Given the description of an element on the screen output the (x, y) to click on. 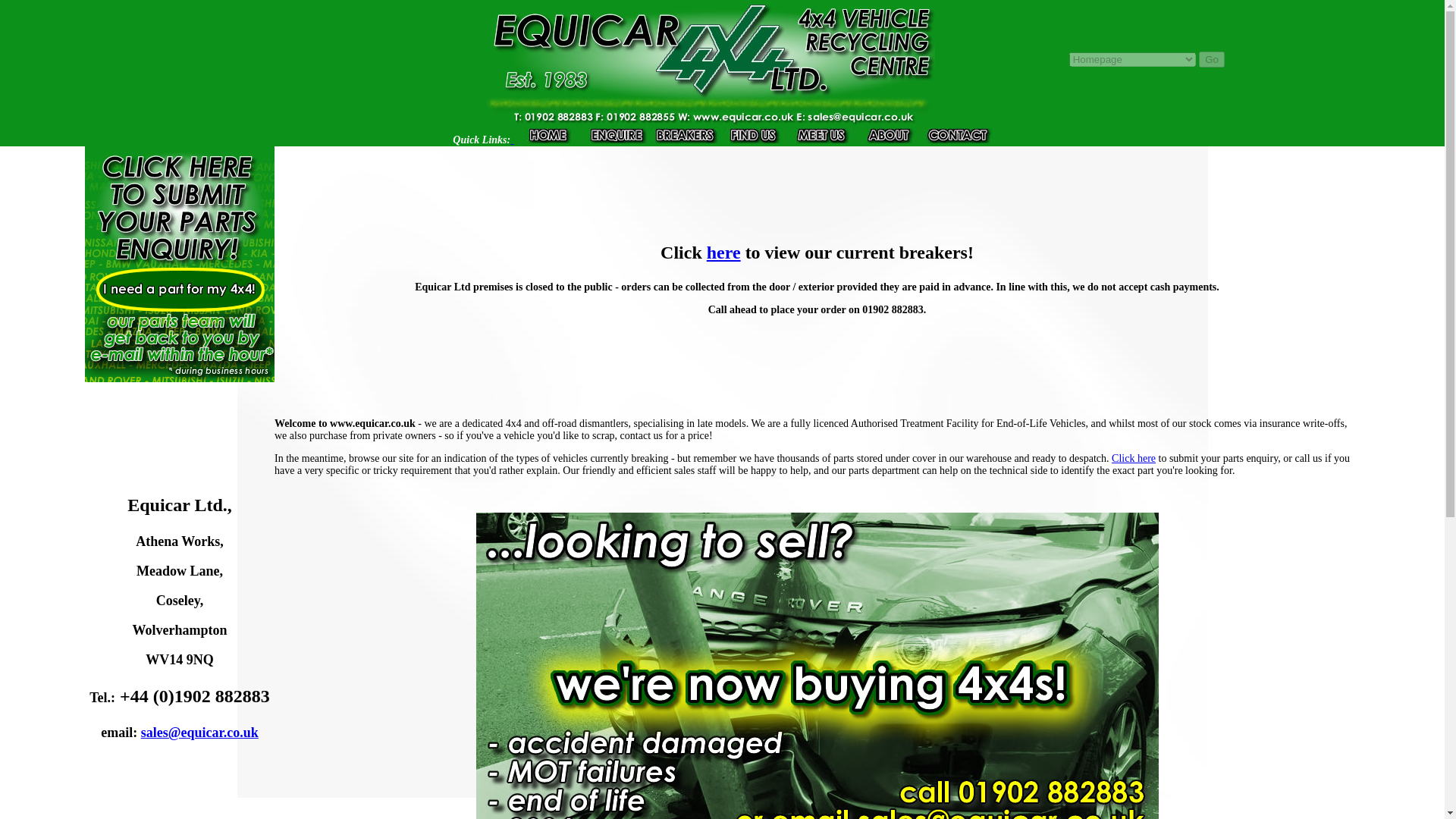
Go (1211, 59)
here (723, 252)
Click here (1134, 458)
